Given the description of an element on the screen output the (x, y) to click on. 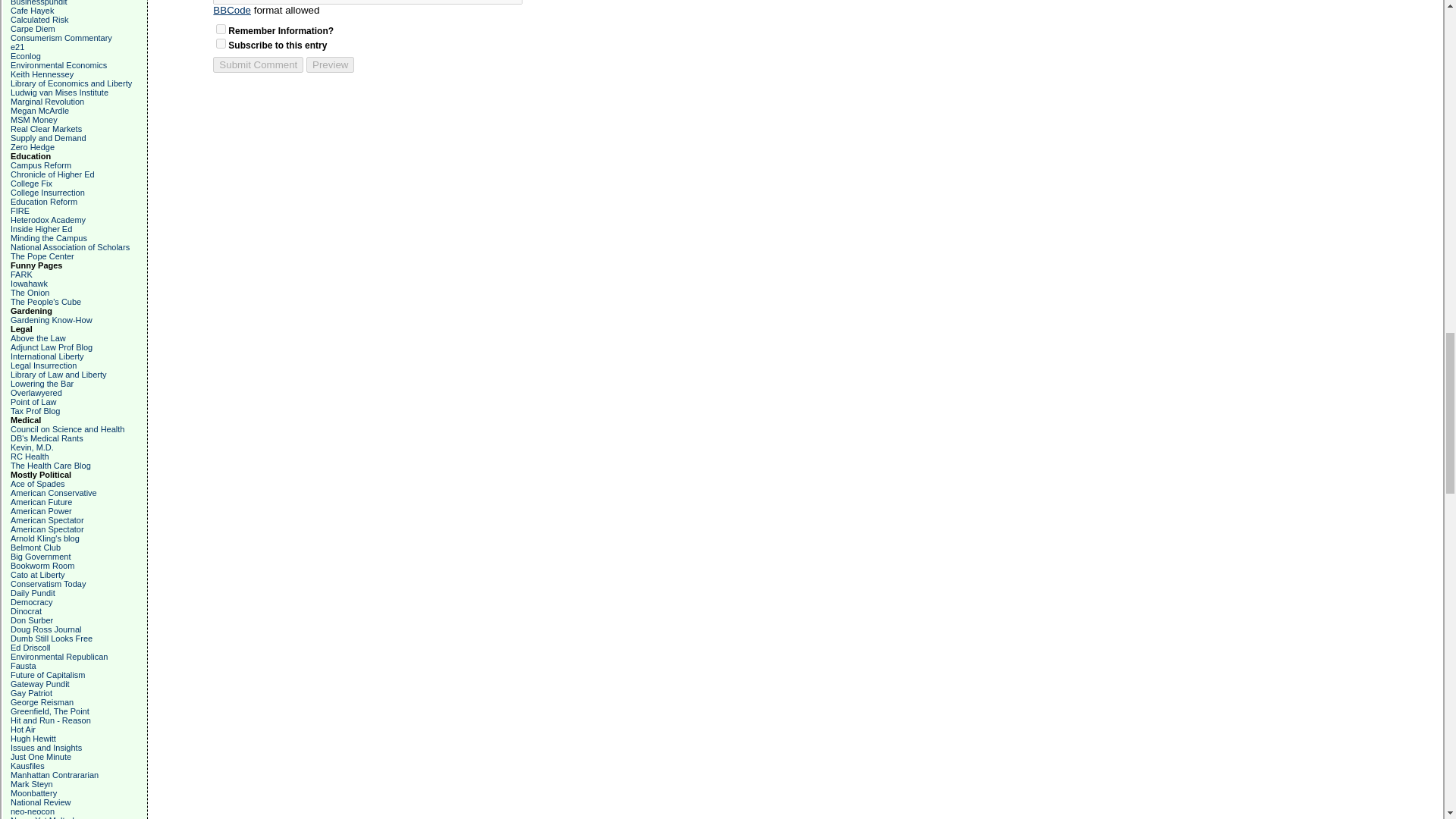
on (220, 43)
on (220, 29)
Preview (329, 64)
Submit Comment (257, 64)
